Given the description of an element on the screen output the (x, y) to click on. 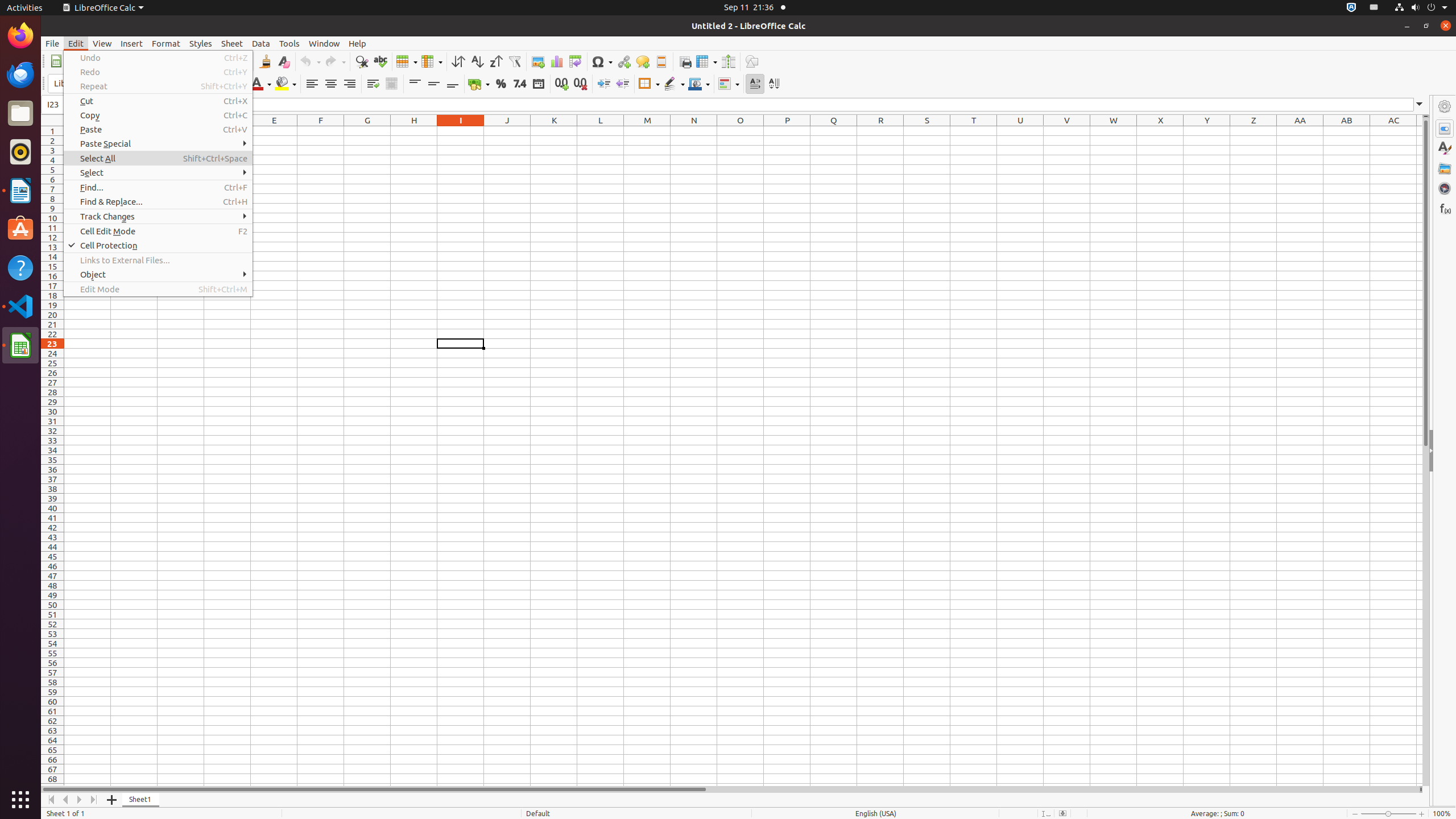
K1 Element type: table-cell (553, 130)
Align Top Element type: push-button (414, 83)
Find... Element type: menu-item (157, 187)
Undo Element type: menu-item (157, 57)
Cell Edit Mode Element type: menu-item (157, 231)
